Given the description of an element on the screen output the (x, y) to click on. 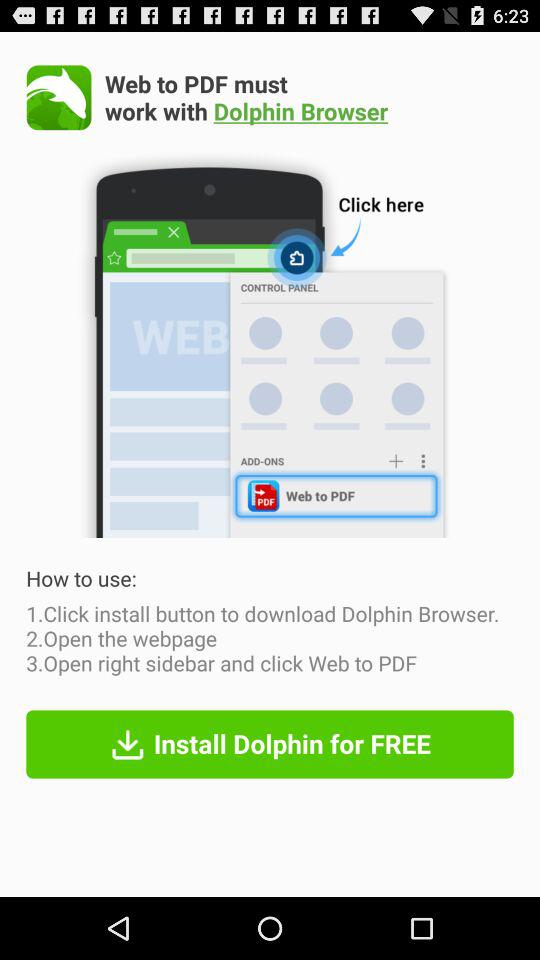
tap the icon to the left of the web to pdf app (58, 97)
